Given the description of an element on the screen output the (x, y) to click on. 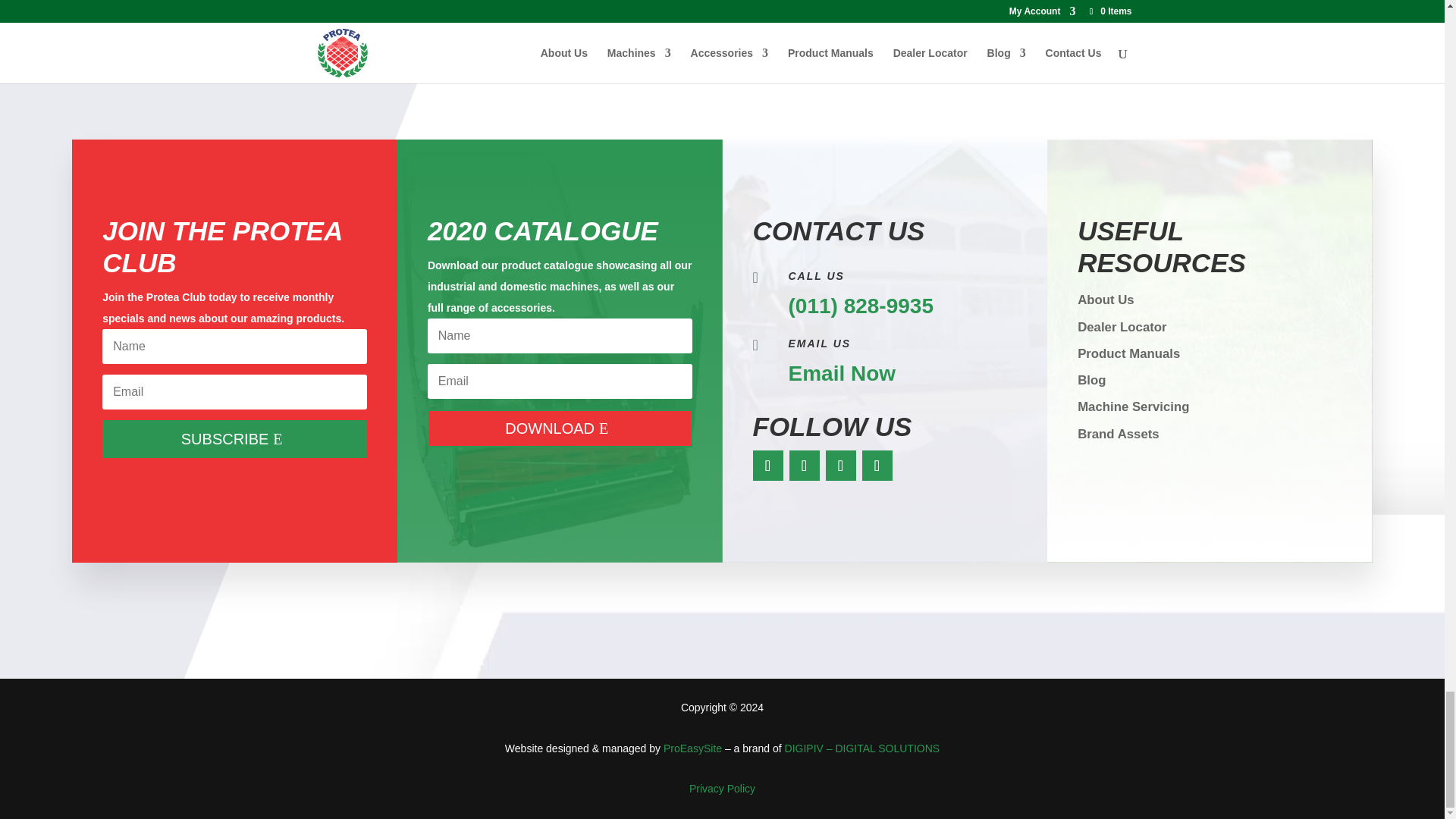
Follow on Youtube (876, 465)
Visit the ProEasySite website (692, 748)
Visit the DIGIPIV website (862, 748)
Follow on Instagram (803, 465)
Follow on Facebook (767, 465)
Follow on TikTok (840, 465)
View the Protea Machines Privacy Policy (721, 788)
